Given the description of an element on the screen output the (x, y) to click on. 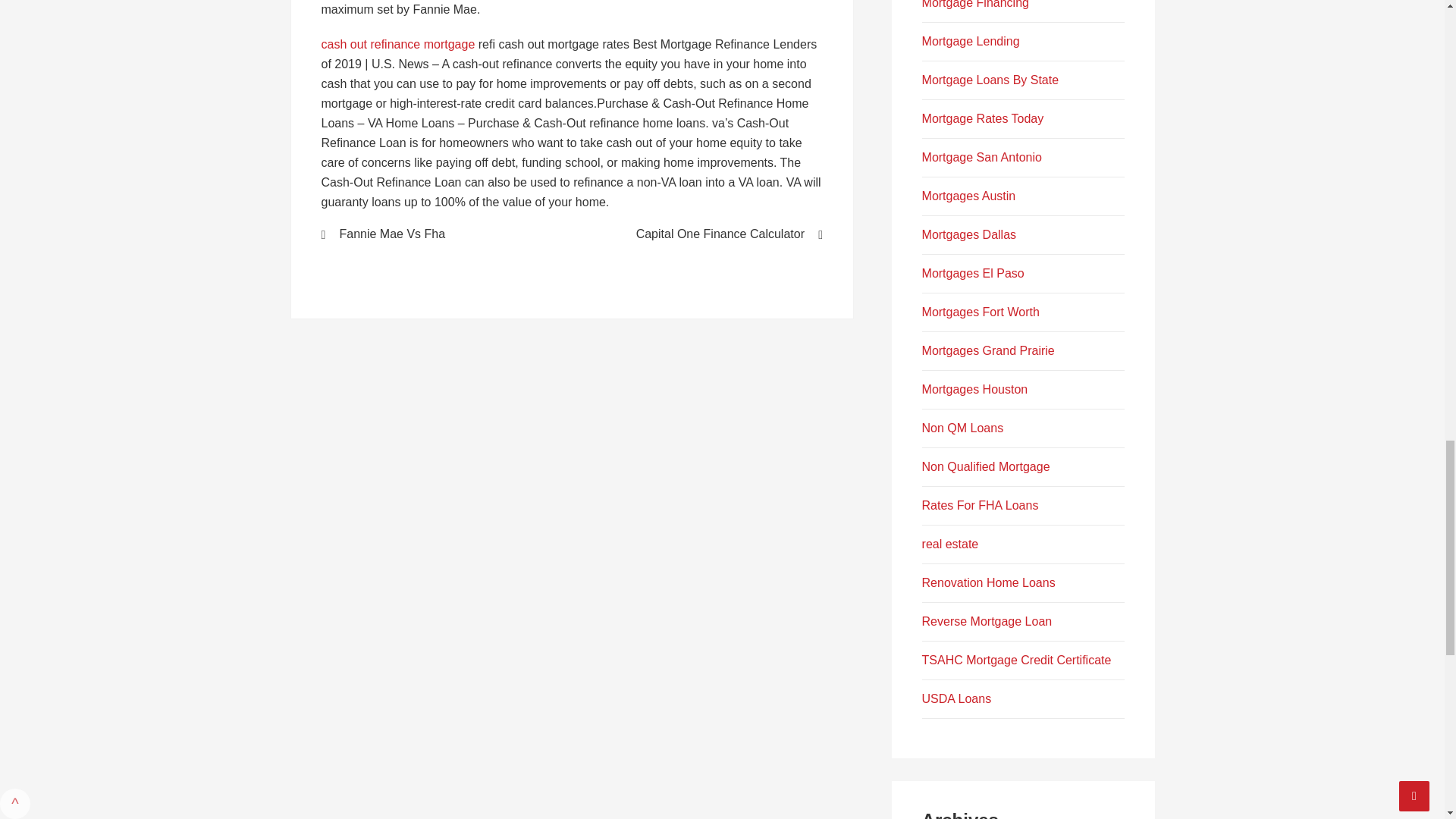
cash out refinance mortgage (398, 43)
Fannie Mae Vs Fha (436, 233)
Capital One Finance Calculator (707, 233)
